Given the description of an element on the screen output the (x, y) to click on. 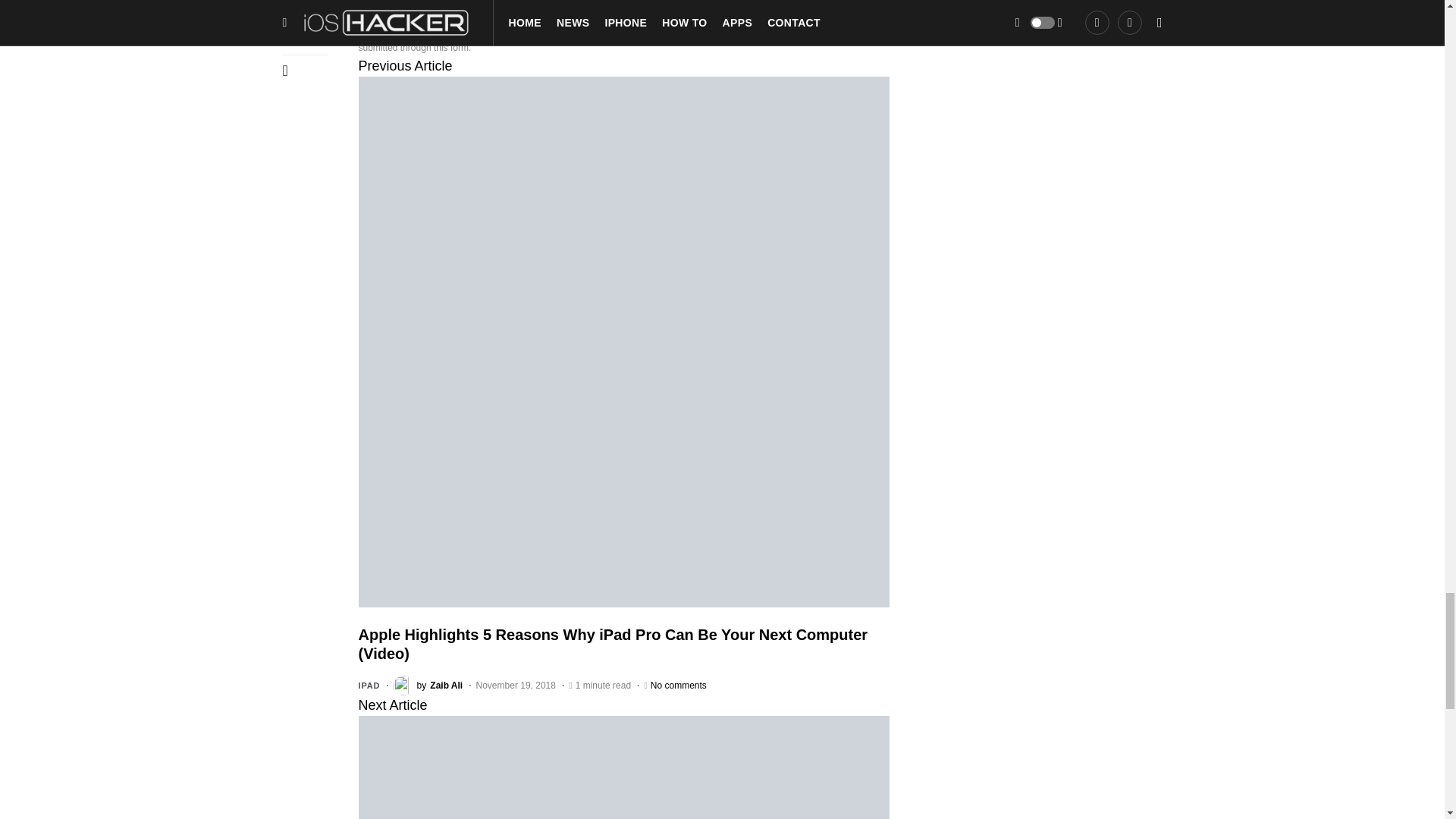
on (363, 31)
View all posts by Zaib Ali (428, 685)
